Given the description of an element on the screen output the (x, y) to click on. 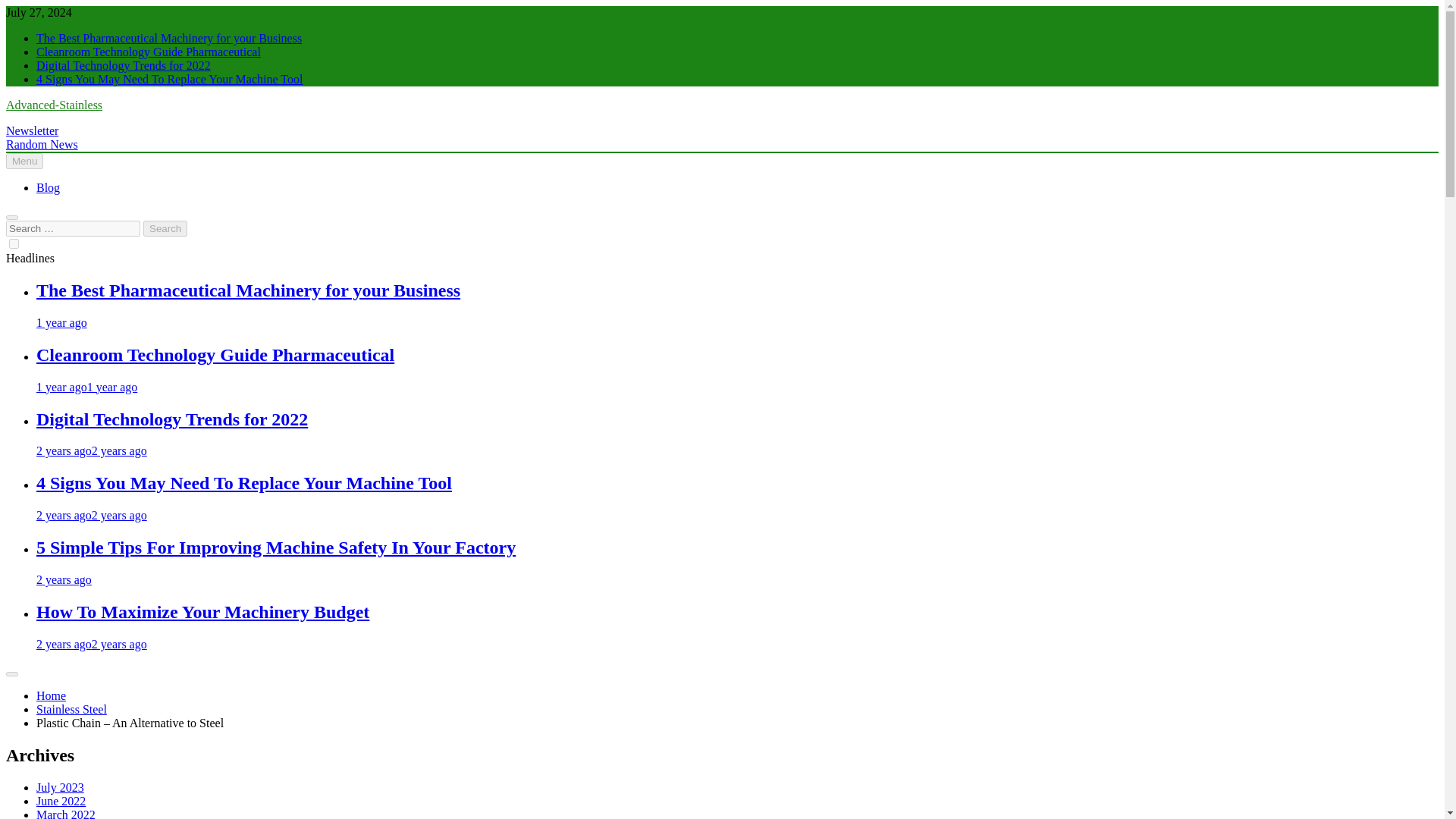
Random News (41, 144)
4 Signs You May Need To Replace Your Machine Tool (243, 483)
Cleanroom Technology Guide Pharmaceutical (215, 354)
Search (164, 228)
4 Signs You May Need To Replace Your Machine Tool (243, 483)
2 years ago2 years ago (91, 514)
How To Maximize Your Machinery Budget (202, 611)
Menu (24, 160)
July 2023 (60, 787)
5 Simple Tips For Improving Machine Safety In Your Factory (275, 547)
March 2022 (66, 813)
1 year ago (61, 322)
2 years ago (63, 579)
Digital Technology Trends for 2022 (123, 65)
Cleanroom Technology Guide Pharmaceutical (215, 354)
